Given the description of an element on the screen output the (x, y) to click on. 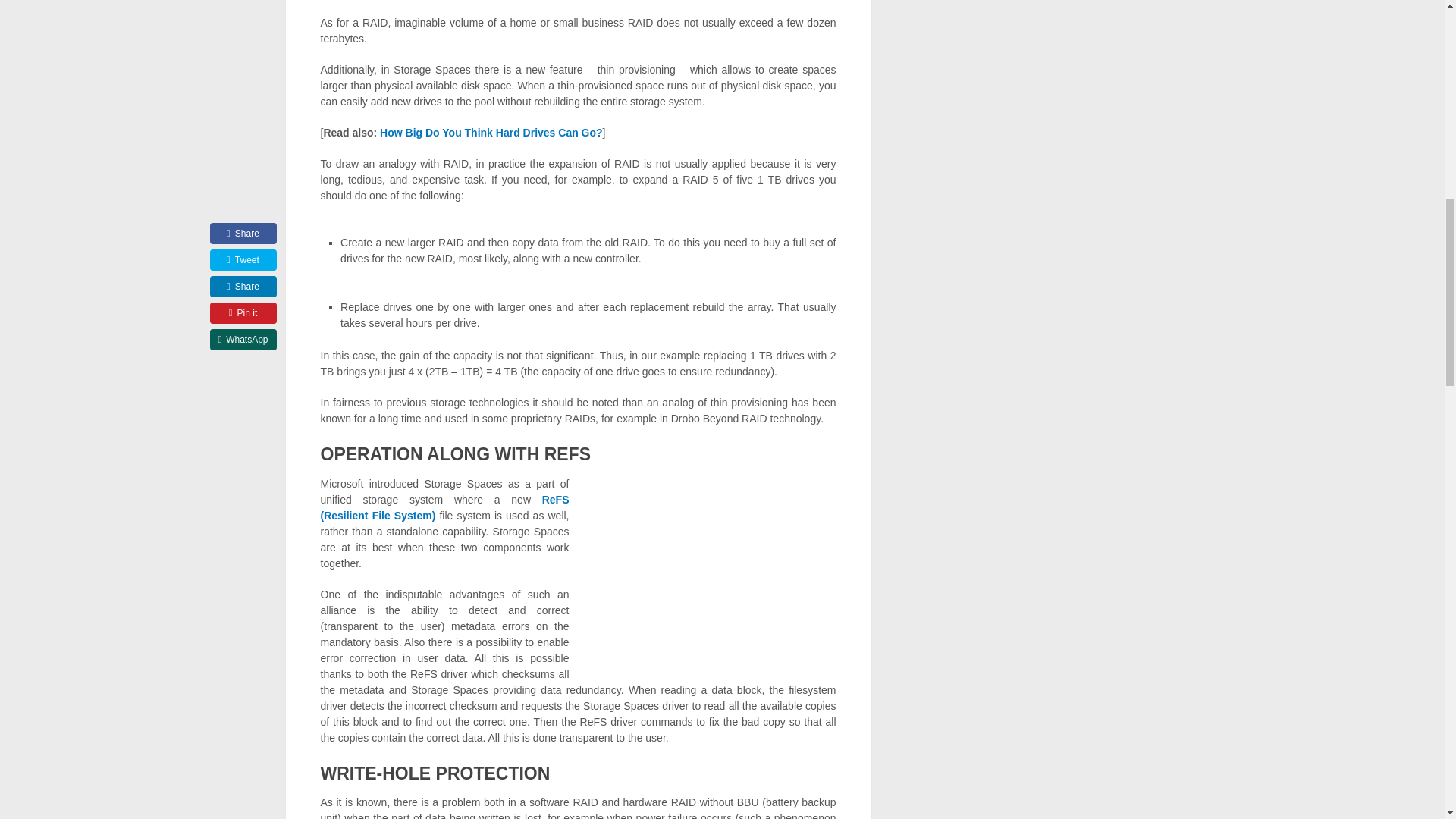
How Big Do You Think Hard Drives Can Go? (491, 132)
Windows Server 2012 Storage Spaces (710, 574)
